Given the description of an element on the screen output the (x, y) to click on. 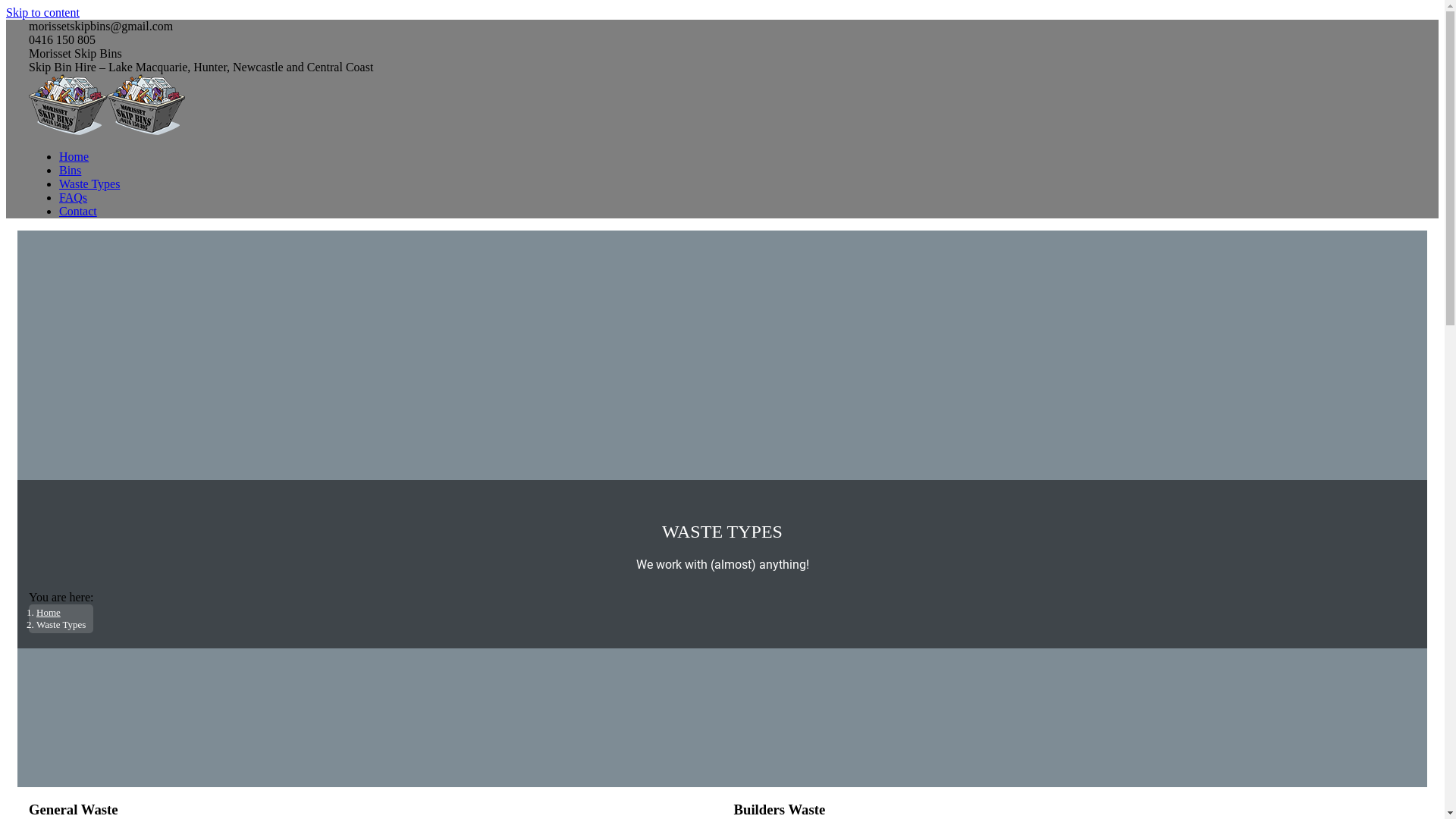
Waste Types Element type: text (89, 183)
Home Element type: text (48, 612)
Contact Element type: text (78, 210)
FAQs Element type: text (73, 197)
Home Element type: text (73, 156)
Bins Element type: text (70, 169)
Skip to content Element type: text (42, 12)
